Given the description of an element on the screen output the (x, y) to click on. 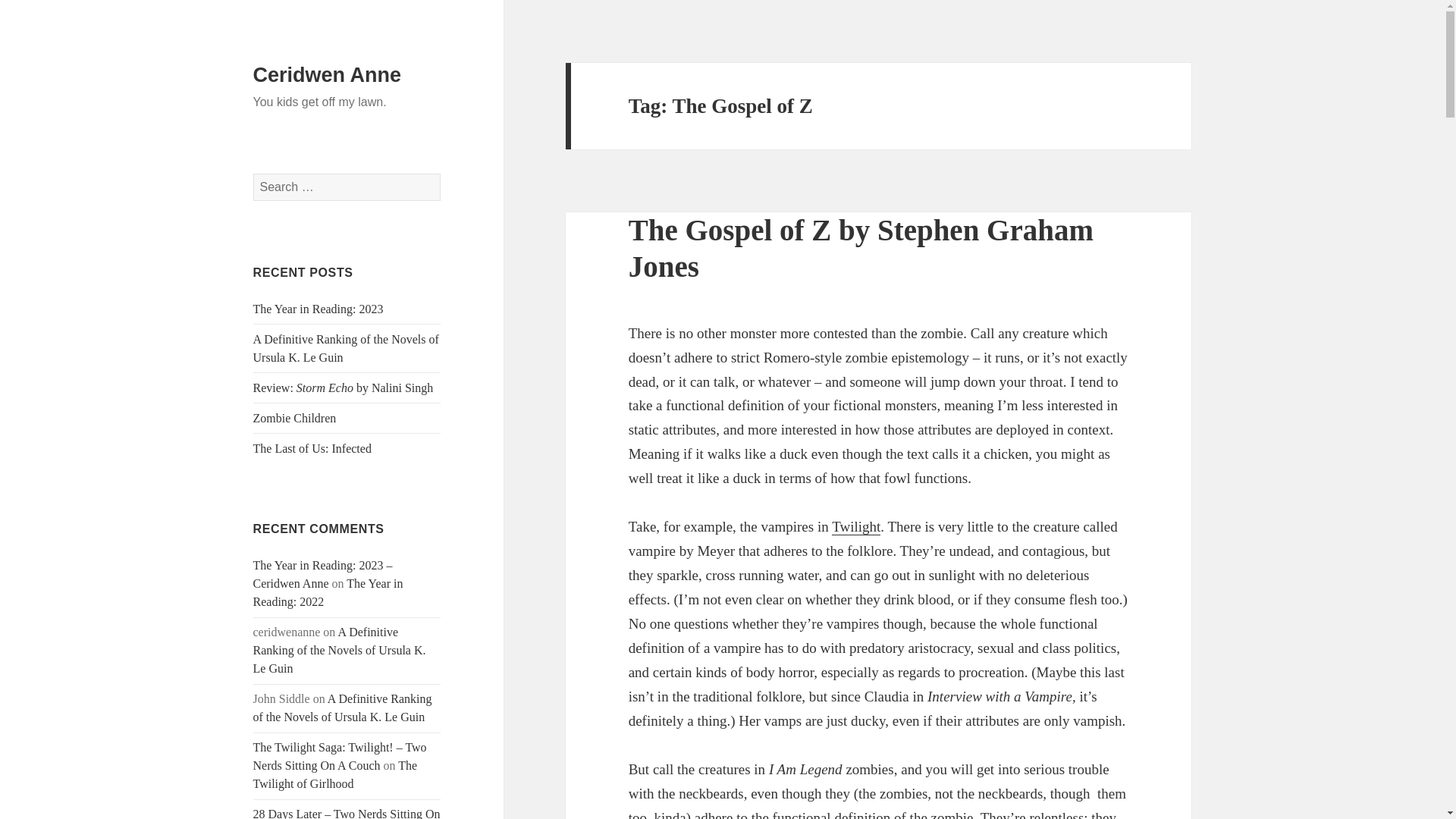
Zombie Children (294, 418)
The Year in Reading: 2023 (318, 308)
The Last of Us: Infected (312, 448)
A Definitive Ranking of the Novels of Ursula K. Le Guin (339, 649)
The Year in Reading: 2022 (328, 592)
A Definitive Ranking of the Novels of Ursula K. Le Guin (342, 707)
The Twilight of Girlhood (335, 774)
Review: Storm Echo by Nalini Singh (343, 387)
